Given the description of an element on the screen output the (x, y) to click on. 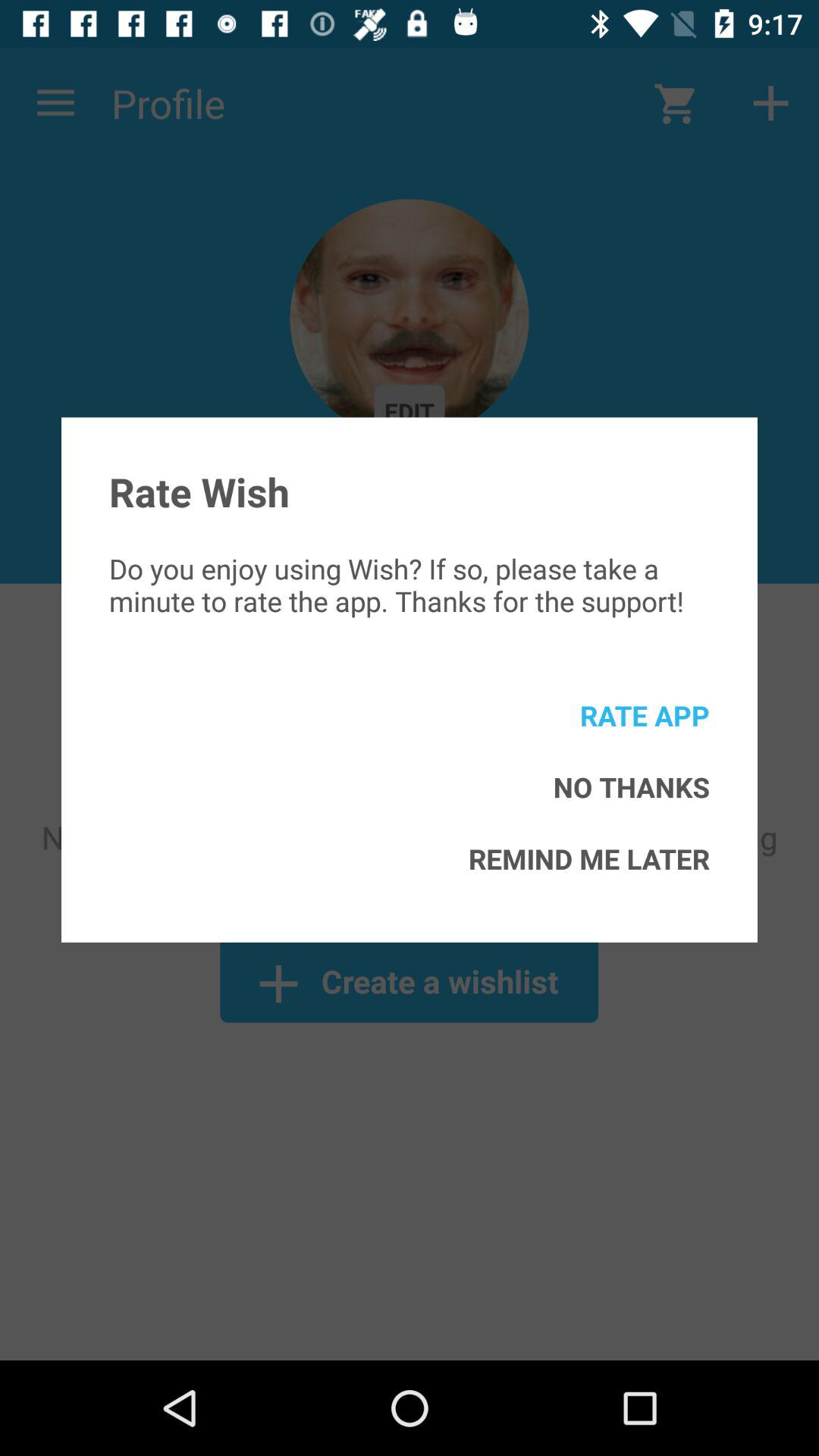
scroll until remind me later (588, 858)
